Given the description of an element on the screen output the (x, y) to click on. 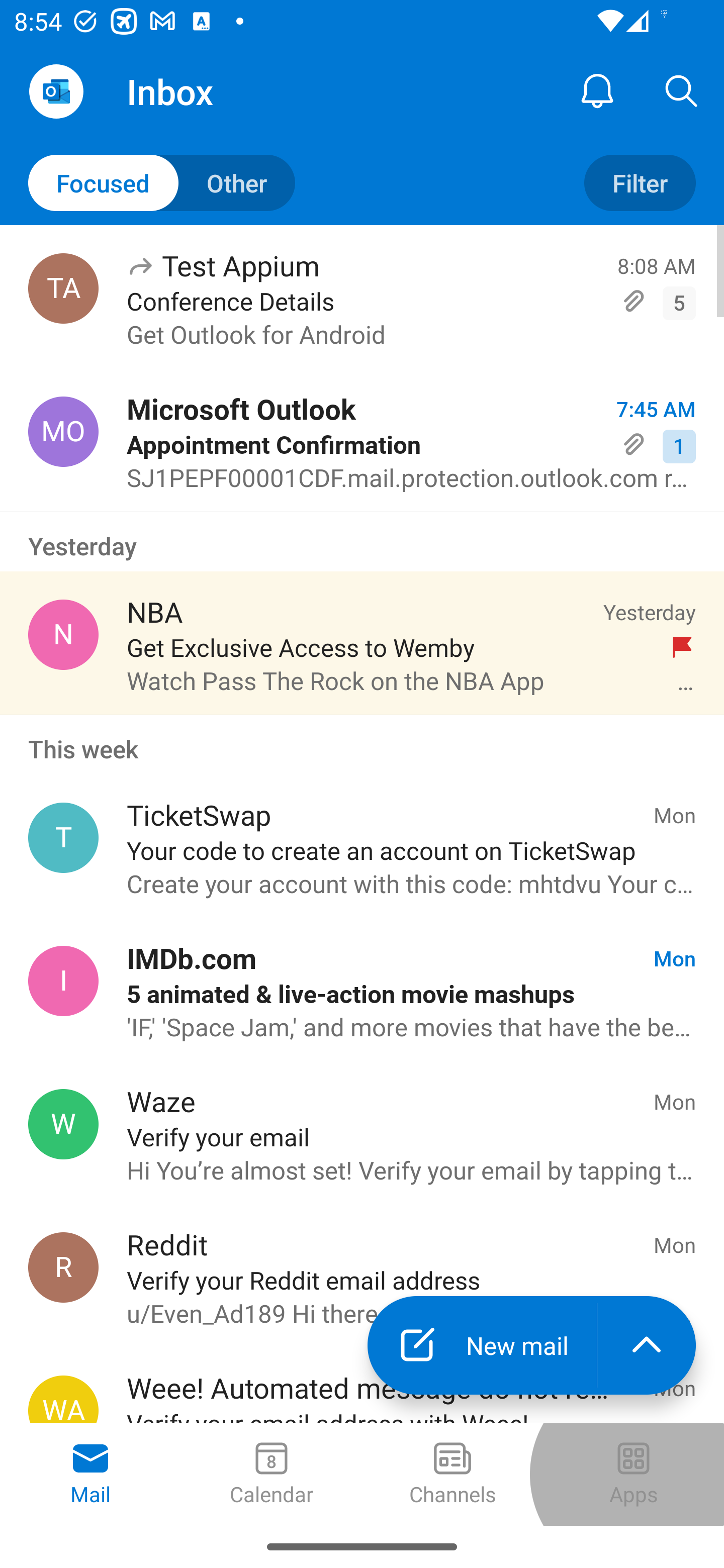
Notification Center (597, 90)
Search, ,  (681, 90)
Open Navigation Drawer (55, 91)
Toggle to other mails (161, 183)
Filter (639, 183)
Test Appium, testappium002@outlook.com (63, 288)
NBA, NBA@email.nba.com (63, 633)
TicketSwap, info@ticketswap.com (63, 837)
IMDb.com, do-not-reply@imdb.com (63, 980)
Waze, noreply@waze.com (63, 1123)
Reddit, noreply@reddit.com (63, 1267)
New mail (481, 1344)
